Given the description of an element on the screen output the (x, y) to click on. 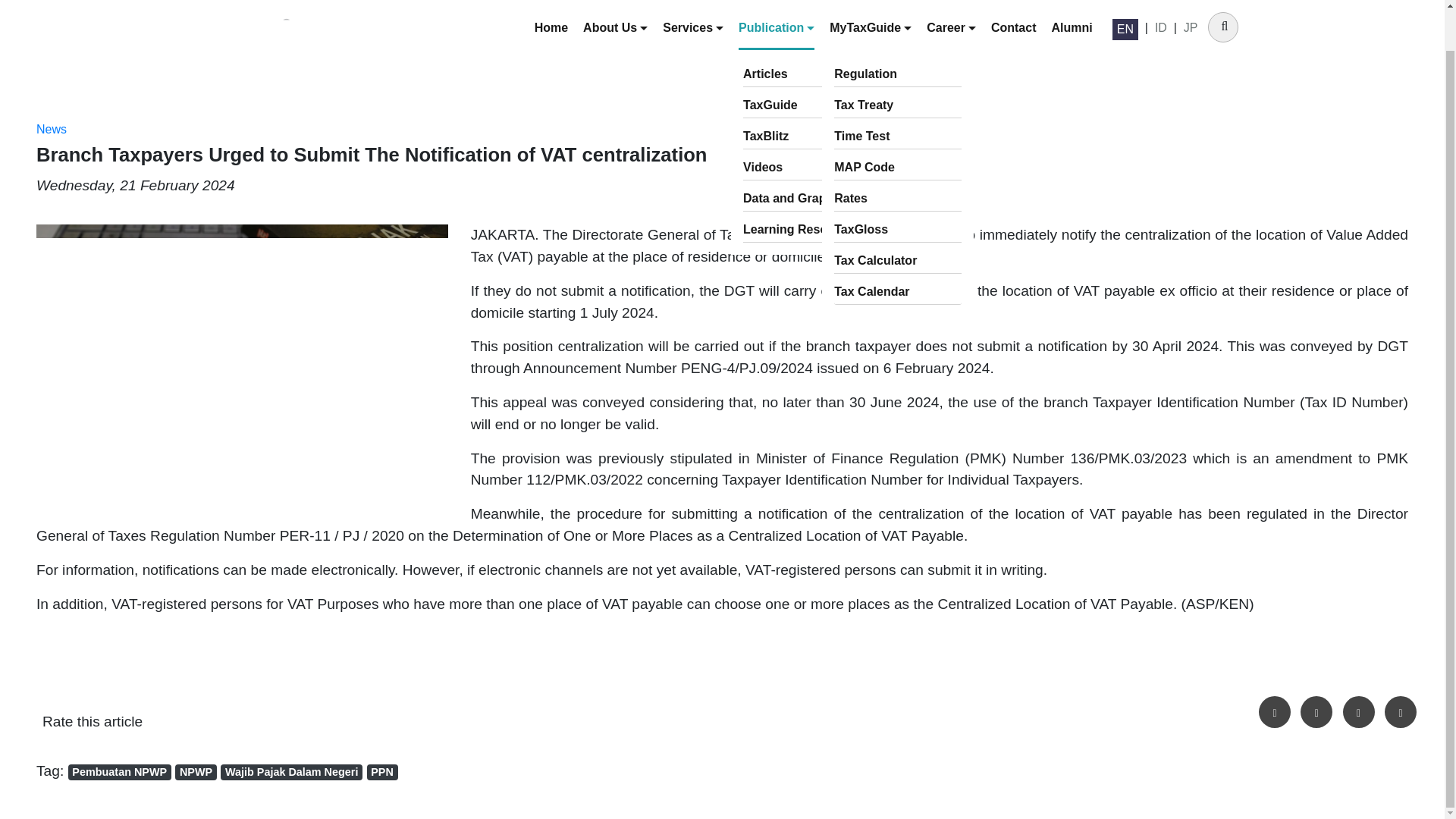
Home (550, 3)
Tax Treaty (897, 63)
Time Test (897, 94)
Contact (1013, 3)
TaxGloss (897, 187)
Learning Resources (806, 187)
Tax Calendar (897, 249)
About Us (615, 3)
Rates (897, 156)
MyTaxGuide (870, 3)
Articles (806, 32)
Services (692, 3)
Publication (775, 3)
Videos (806, 125)
